Given the description of an element on the screen output the (x, y) to click on. 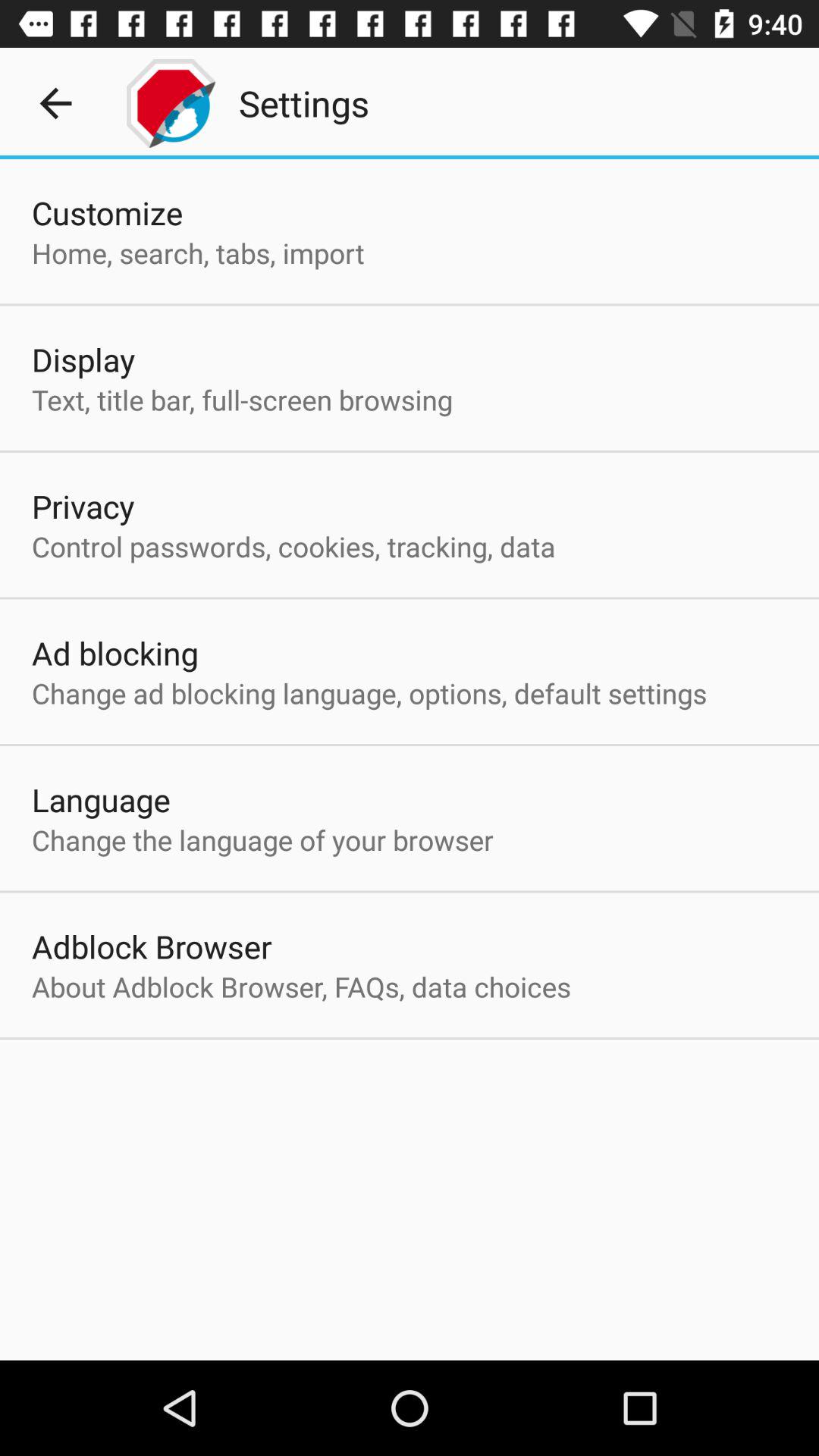
tap the item above the home search tabs icon (107, 212)
